Given the description of an element on the screen output the (x, y) to click on. 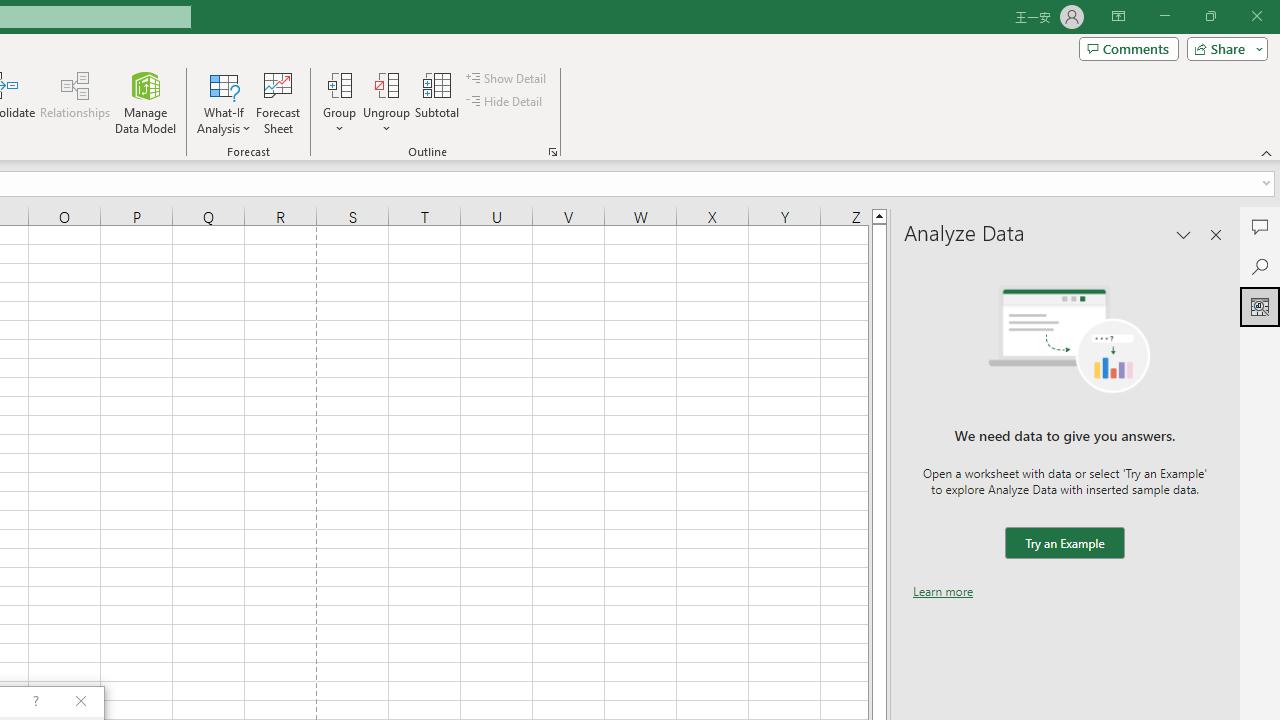
Analyze Data (1260, 306)
Search (1260, 266)
Manage Data Model (145, 102)
Forecast Sheet (278, 102)
We need data to give you answers. Try an Example (1064, 543)
Group and Outline Settings (552, 151)
